Given the description of an element on the screen output the (x, y) to click on. 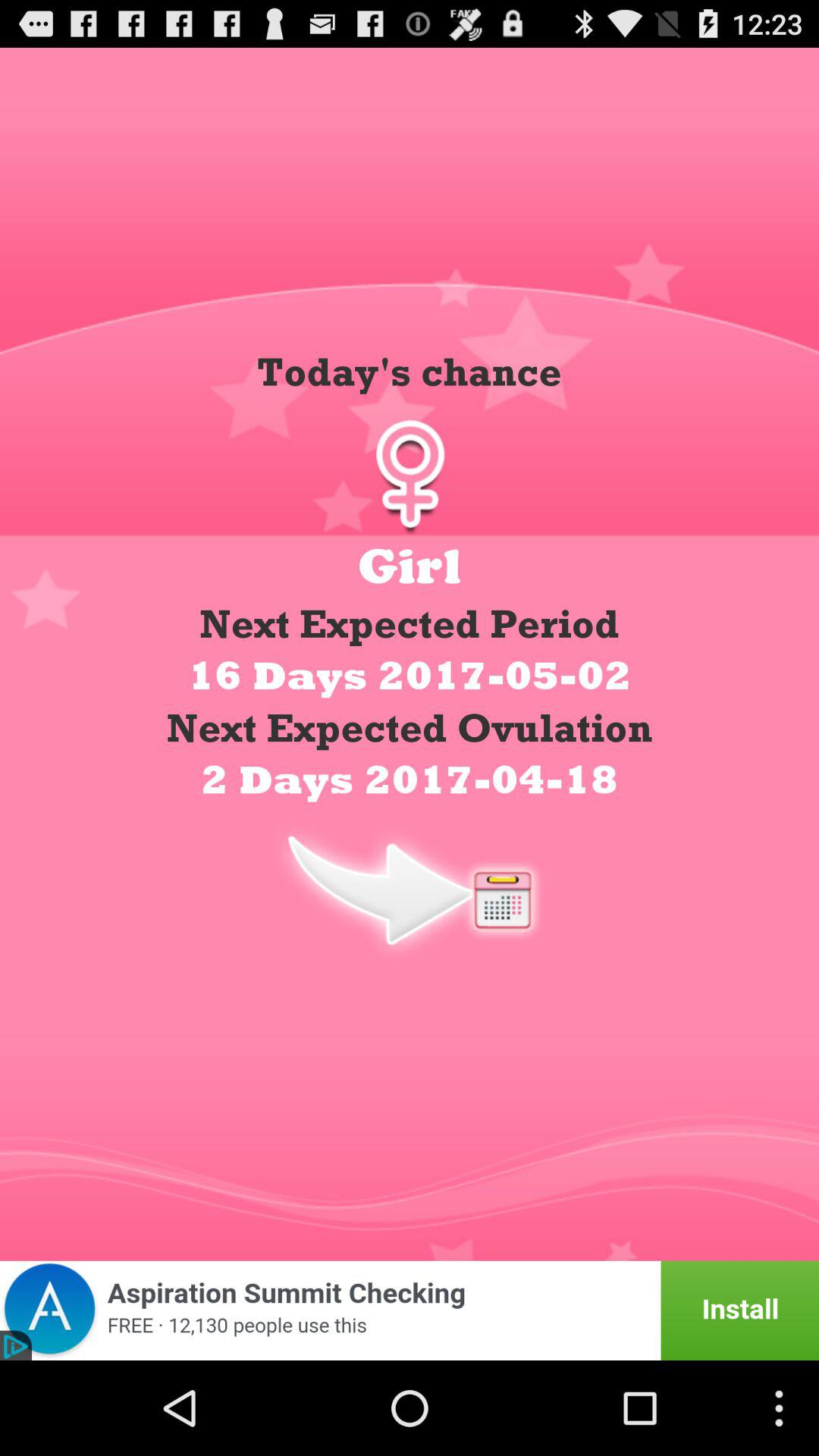
open advertisement (409, 1310)
